Given the description of an element on the screen output the (x, y) to click on. 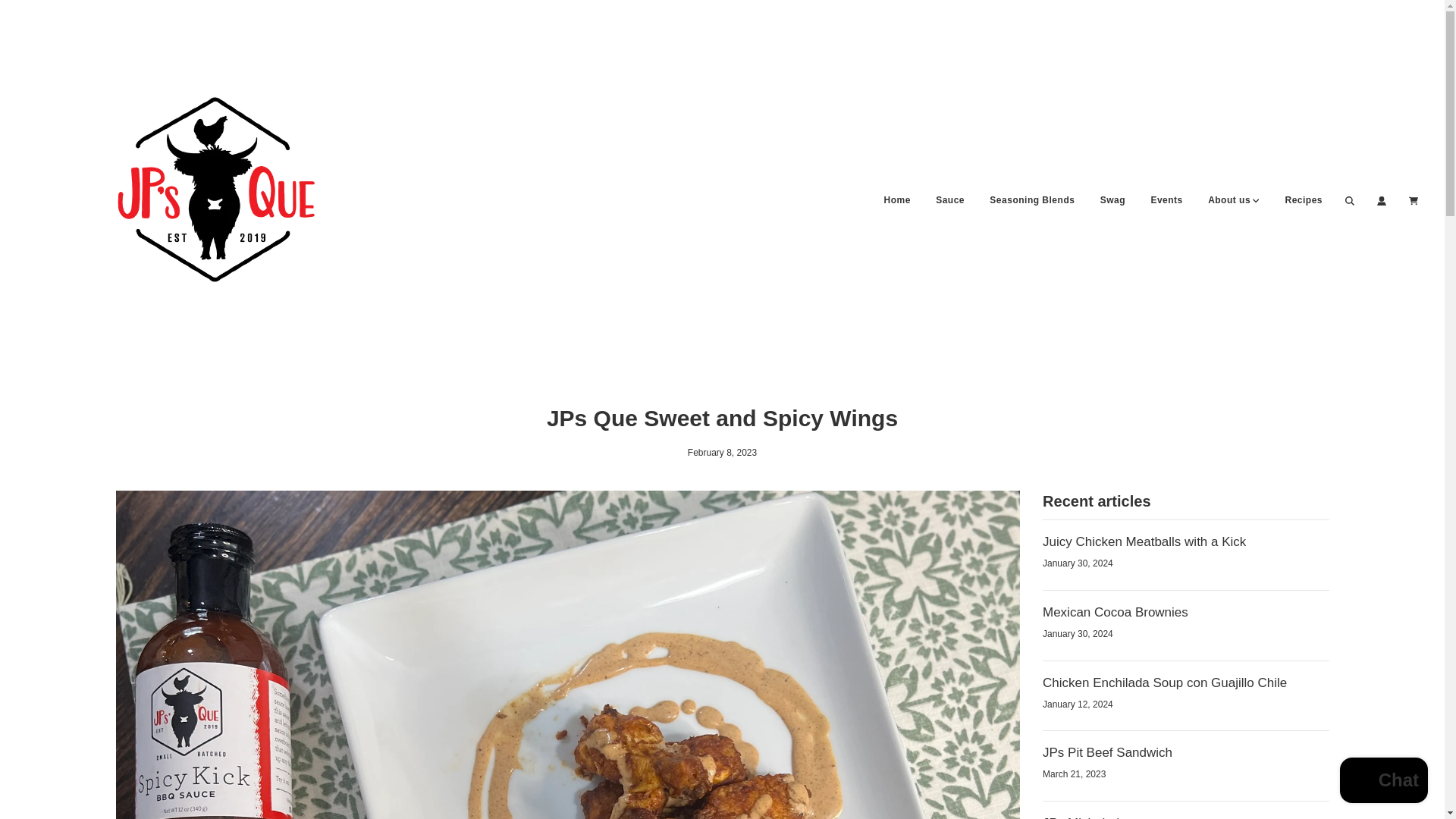
About us (1233, 200)
Log in (1381, 201)
Mexican Cocoa Brownies (1115, 612)
JPs Michelada (1084, 817)
Seasoning Blends (1032, 200)
Shopify online store chat (1383, 781)
Swag (1113, 200)
Home (896, 200)
Events (1165, 200)
Juicy Chicken Meatballs with a Kick (1144, 541)
